Given the description of an element on the screen output the (x, y) to click on. 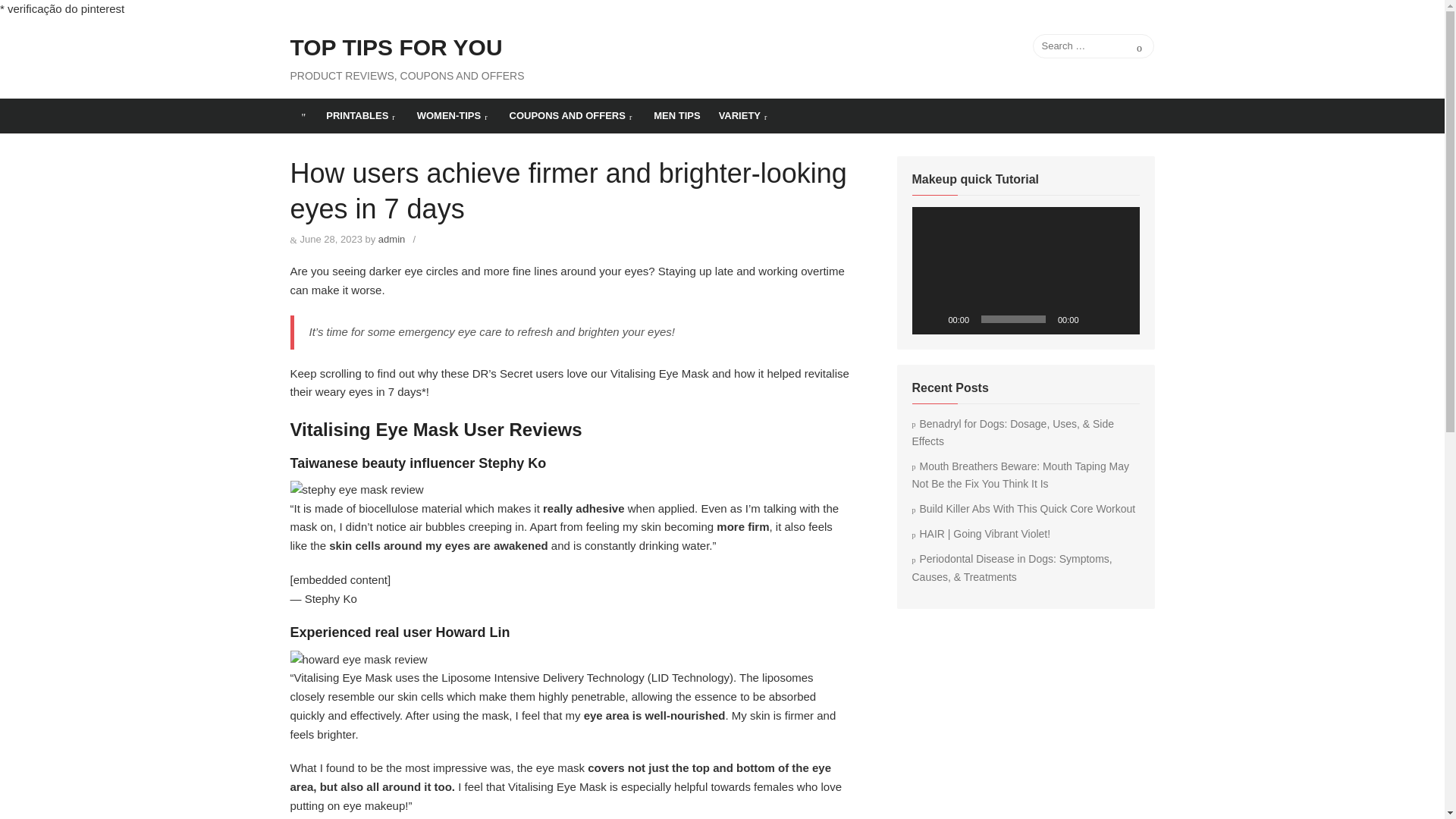
TOP TIPS FOR YOU (395, 47)
COUPONS AND OFFERS (572, 115)
WOMEN-TIPS (453, 115)
Fullscreen (1119, 319)
PRINTABLES (362, 115)
Mute (1094, 319)
Play (931, 319)
